Given the description of an element on the screen output the (x, y) to click on. 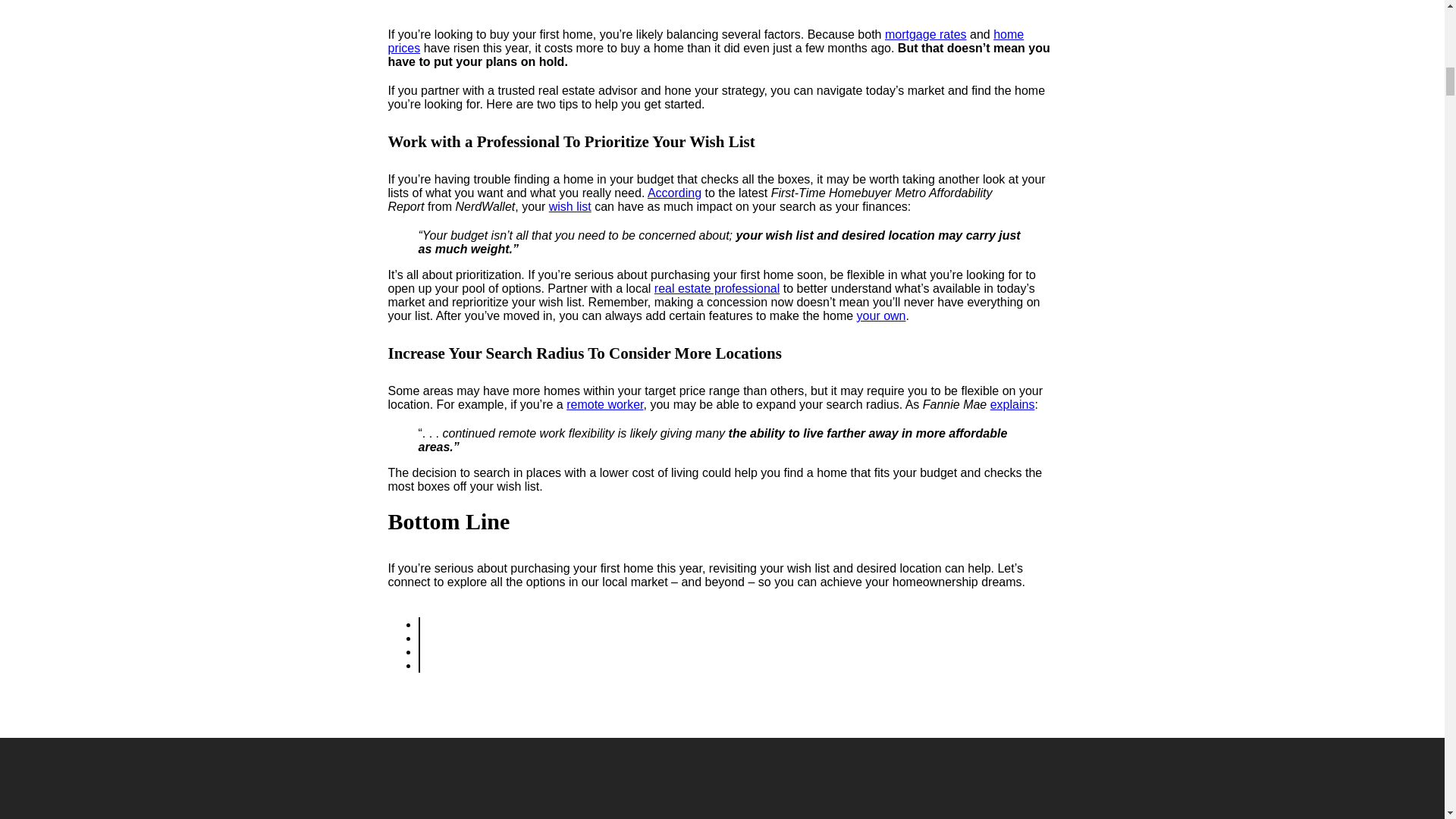
remote worker (604, 404)
home prices (706, 40)
your own (881, 315)
mortgage rates (925, 33)
remote worker (604, 404)
home prices (706, 40)
wish list (569, 205)
real estate professional (715, 287)
mortgage rates (925, 33)
wish list (569, 205)
According (674, 192)
According (674, 192)
explains (1012, 404)
explains (1012, 404)
your own (881, 315)
